Given the description of an element on the screen output the (x, y) to click on. 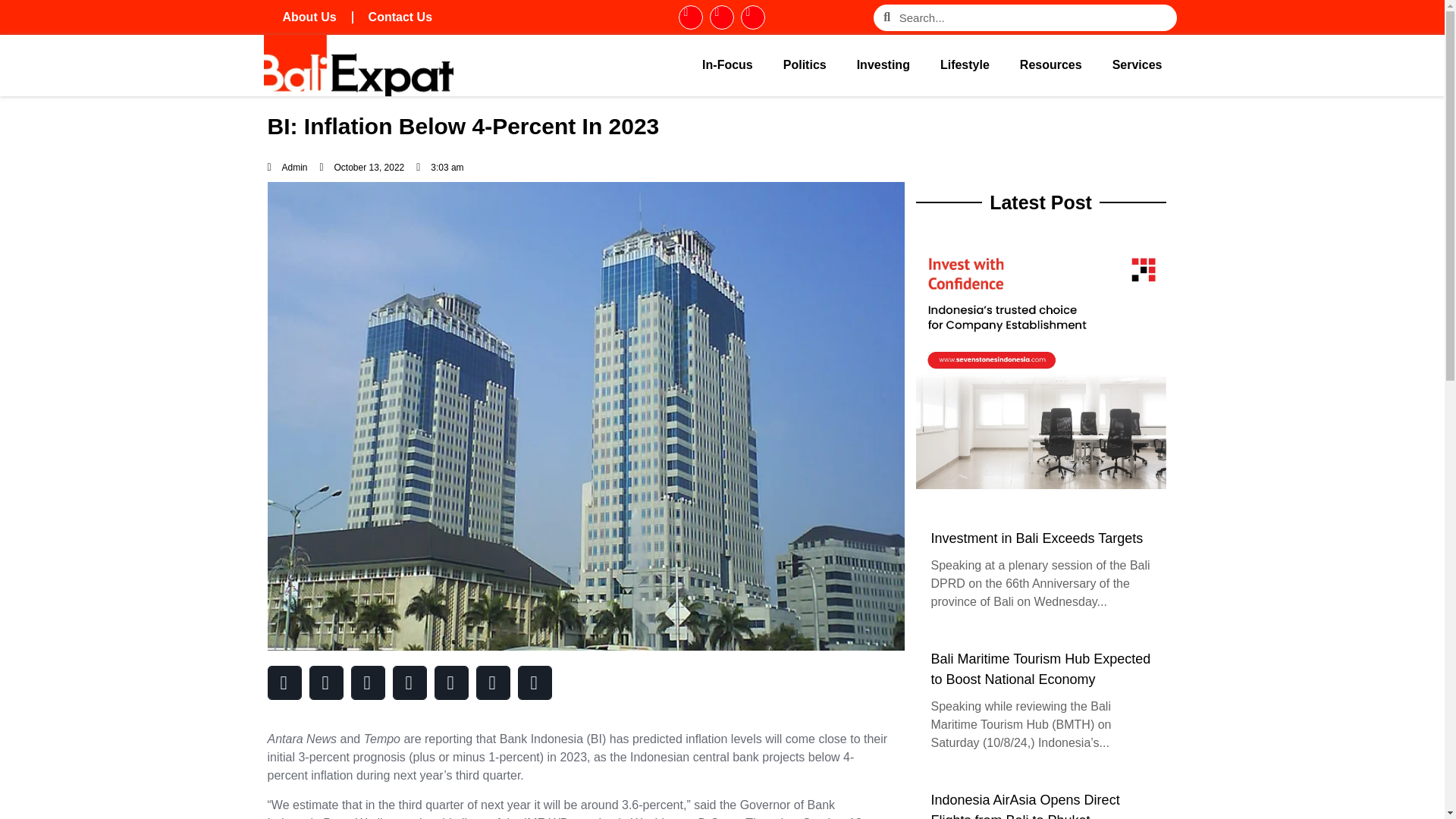
Indonesia AirAsia Opens Direct Flights from Bali to Phuket (1041, 804)
Investing (882, 64)
Services (1137, 64)
Resources (1050, 64)
Politics (804, 64)
Investment in Bali Exceeds Targets (1041, 538)
In-Focus (727, 64)
Admin (286, 167)
Bali Maritime Tourism Hub Expected to Boost National Economy (1041, 669)
Lifestyle (964, 64)
